Given the description of an element on the screen output the (x, y) to click on. 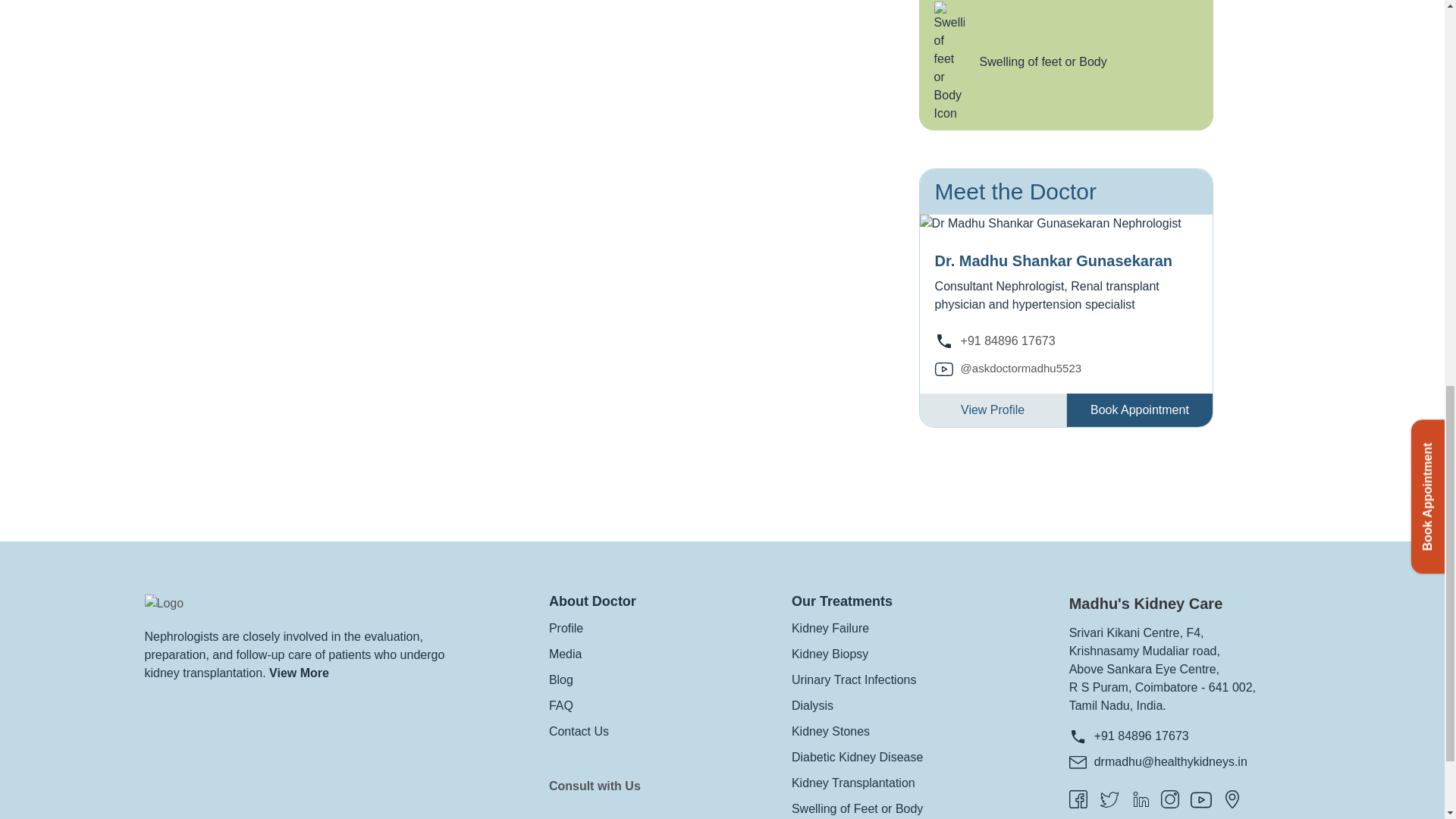
Kidney Biopsy (829, 653)
Media (565, 653)
View More (299, 672)
Consult with Us (594, 785)
Kidney Failure (830, 627)
FAQ (560, 705)
Contact Us (578, 730)
View Profile (992, 409)
Profile (565, 627)
Swelling of feet or Body (1066, 65)
Doctor Madhu Shankar (1050, 223)
Blog (560, 679)
Book Appointment (1138, 409)
